Given the description of an element on the screen output the (x, y) to click on. 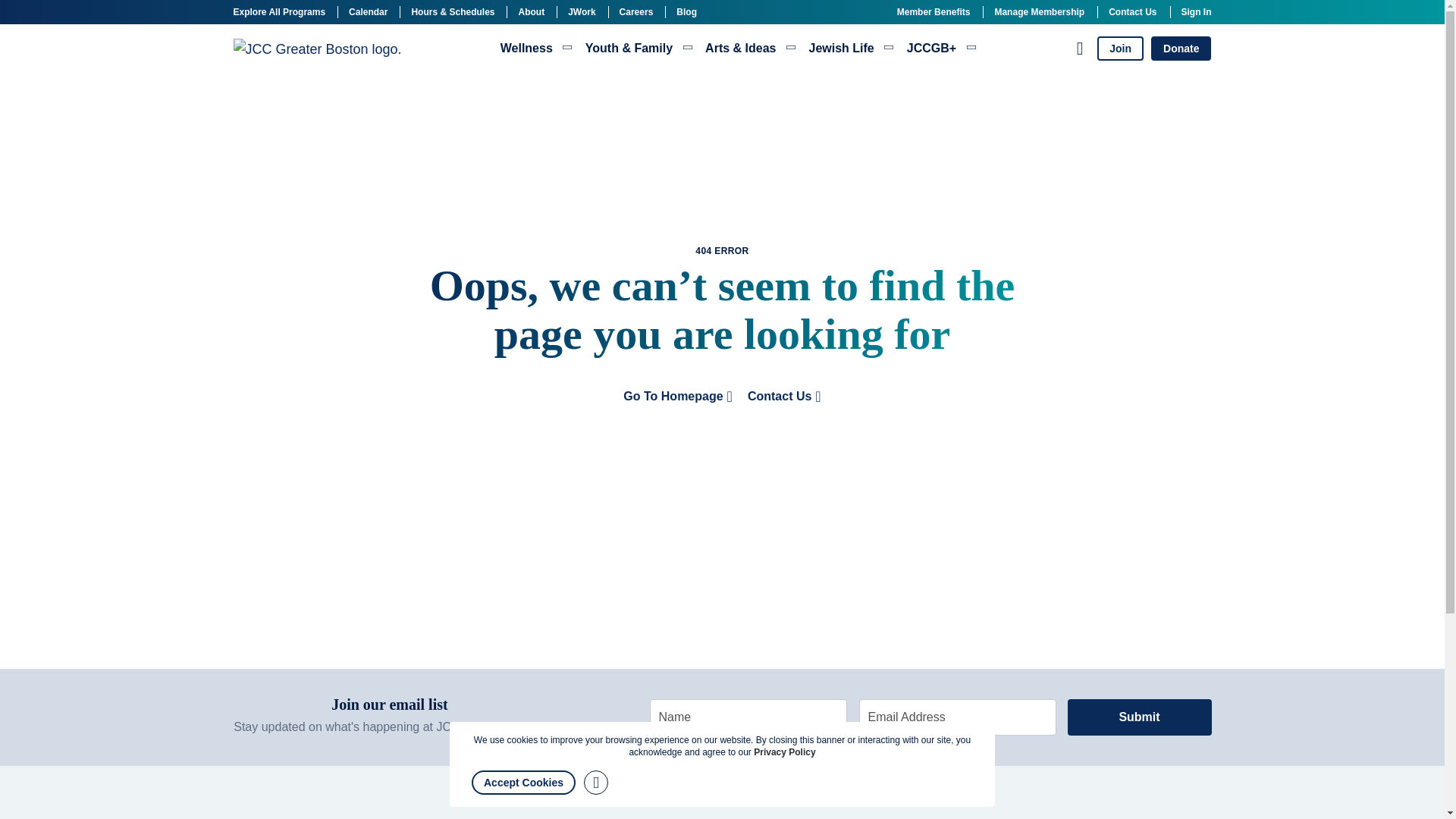
Careers (636, 11)
JWork (581, 11)
Calendar (368, 11)
Explore All Programs (279, 11)
Member Benefits (933, 11)
About (531, 11)
Blog (687, 11)
Wellness (536, 48)
Sign In (1195, 11)
Contact Us (1132, 11)
Manage Membership (1039, 11)
